Given the description of an element on the screen output the (x, y) to click on. 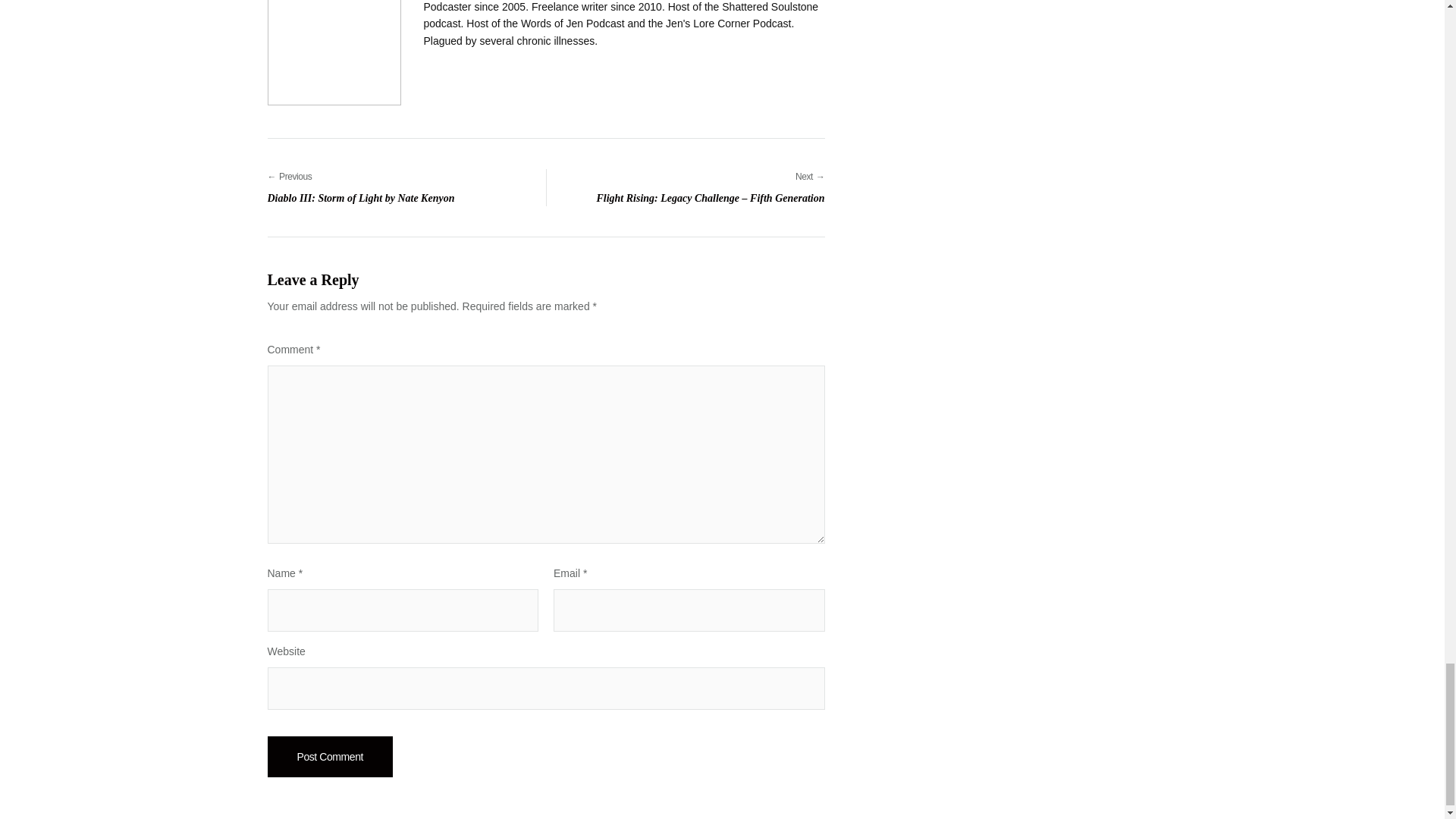
Post Comment (329, 756)
Post Comment (392, 186)
